Given the description of an element on the screen output the (x, y) to click on. 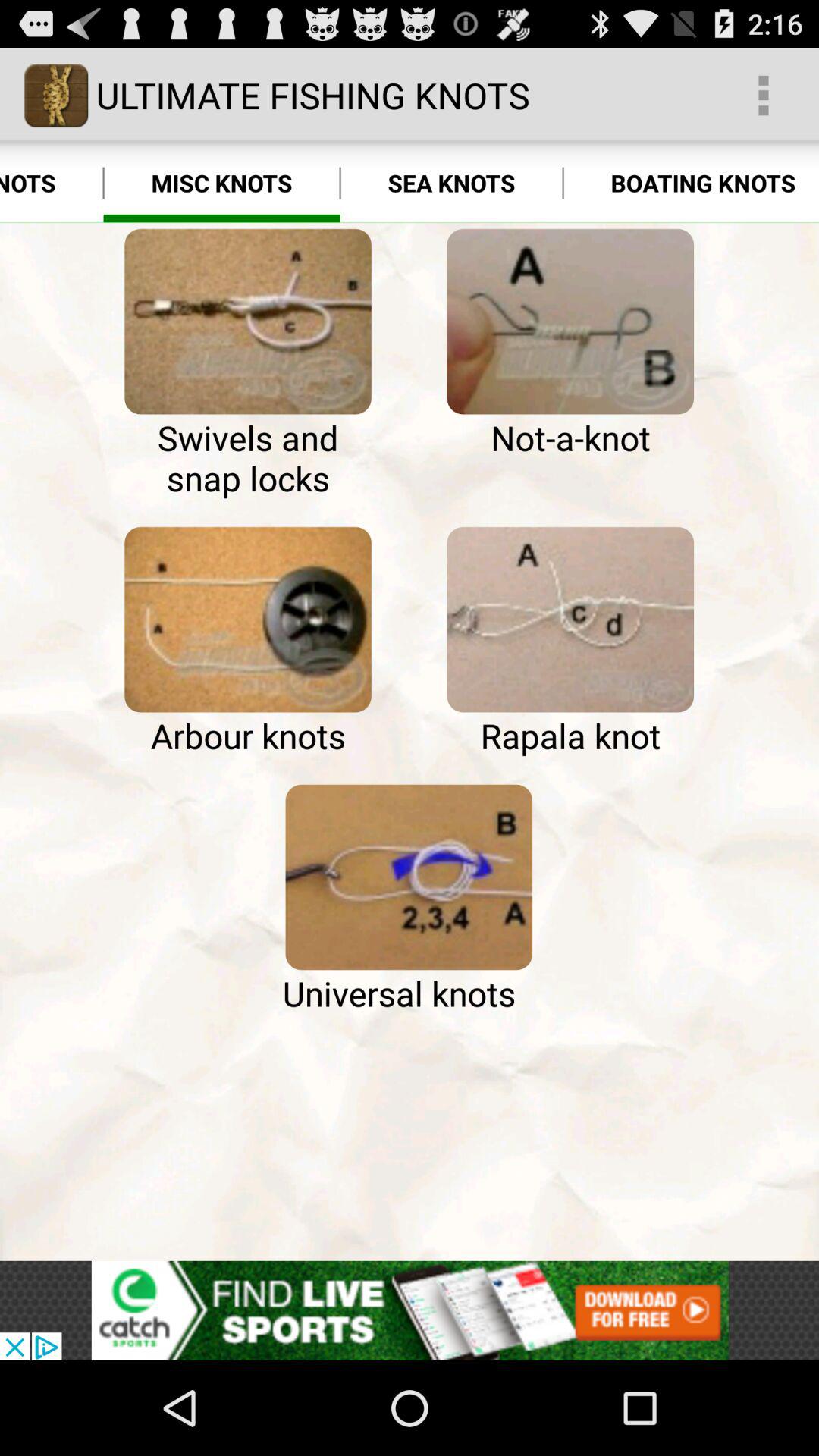
see more universo knots information (408, 876)
